Given the description of an element on the screen output the (x, y) to click on. 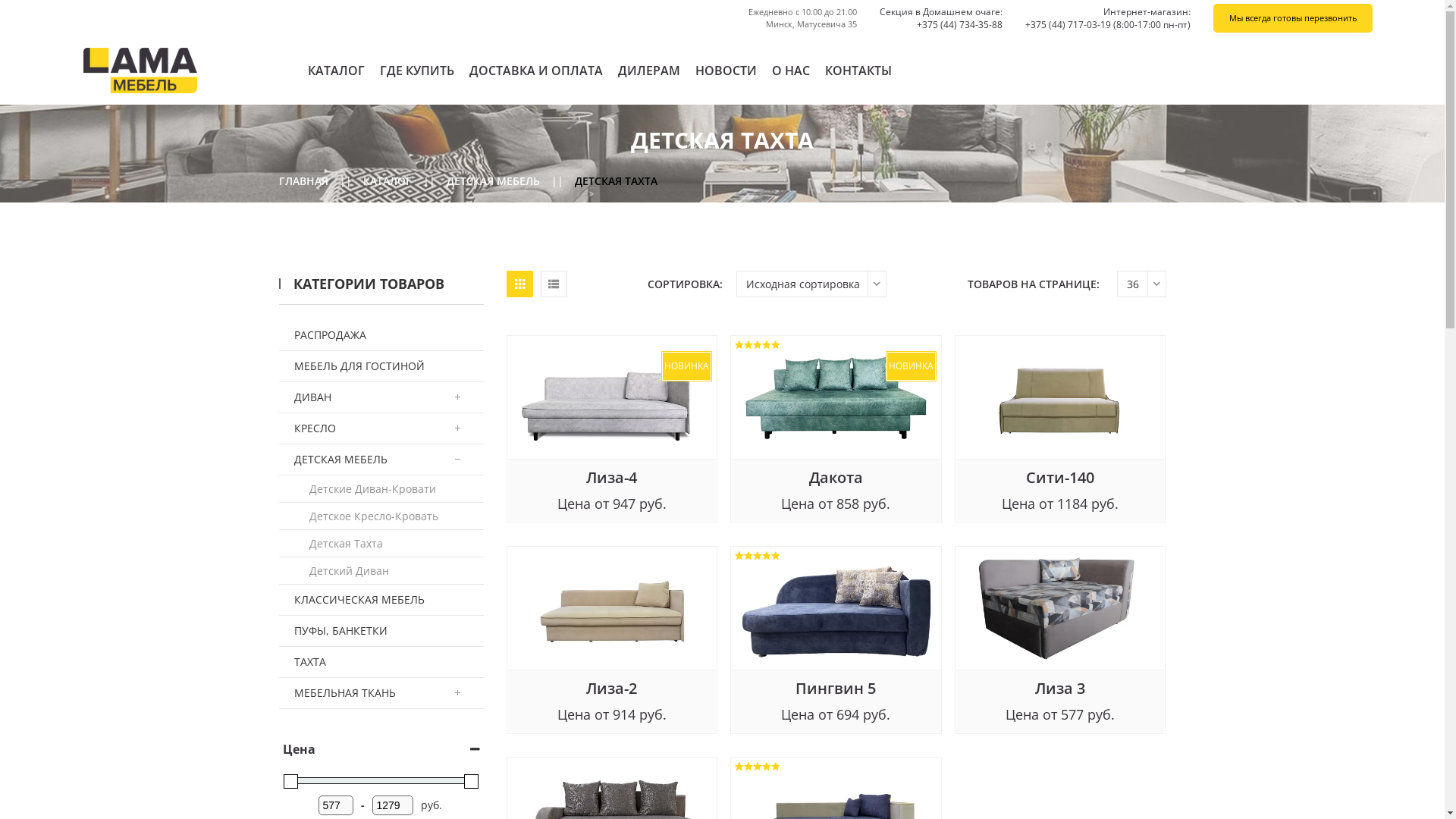
+375 (44) 734-35-88 Element type: text (959, 24)
